Given the description of an element on the screen output the (x, y) to click on. 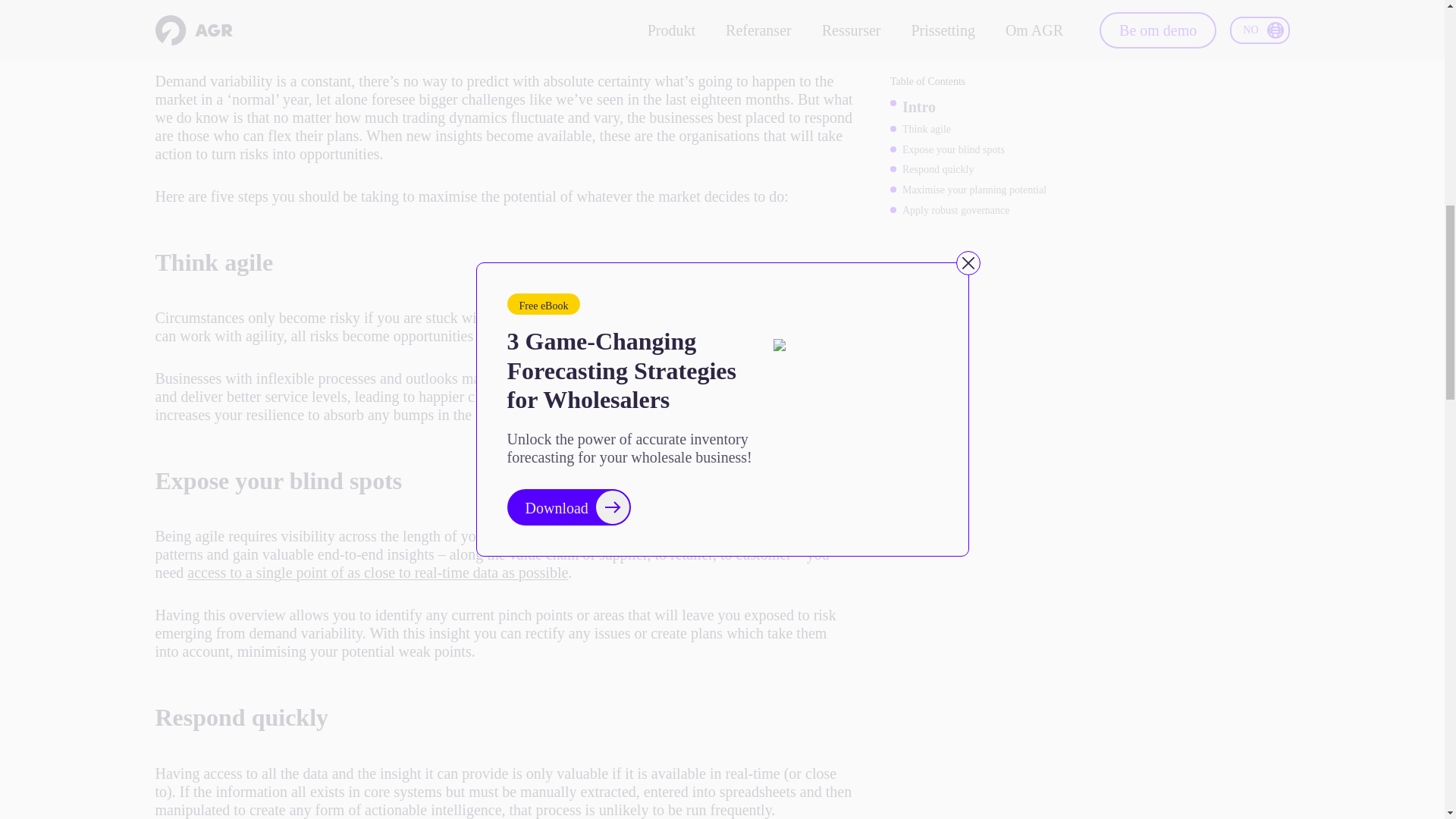
Tackling demand fluctuation from multiple angles (666, 396)
